Given the description of an element on the screen output the (x, y) to click on. 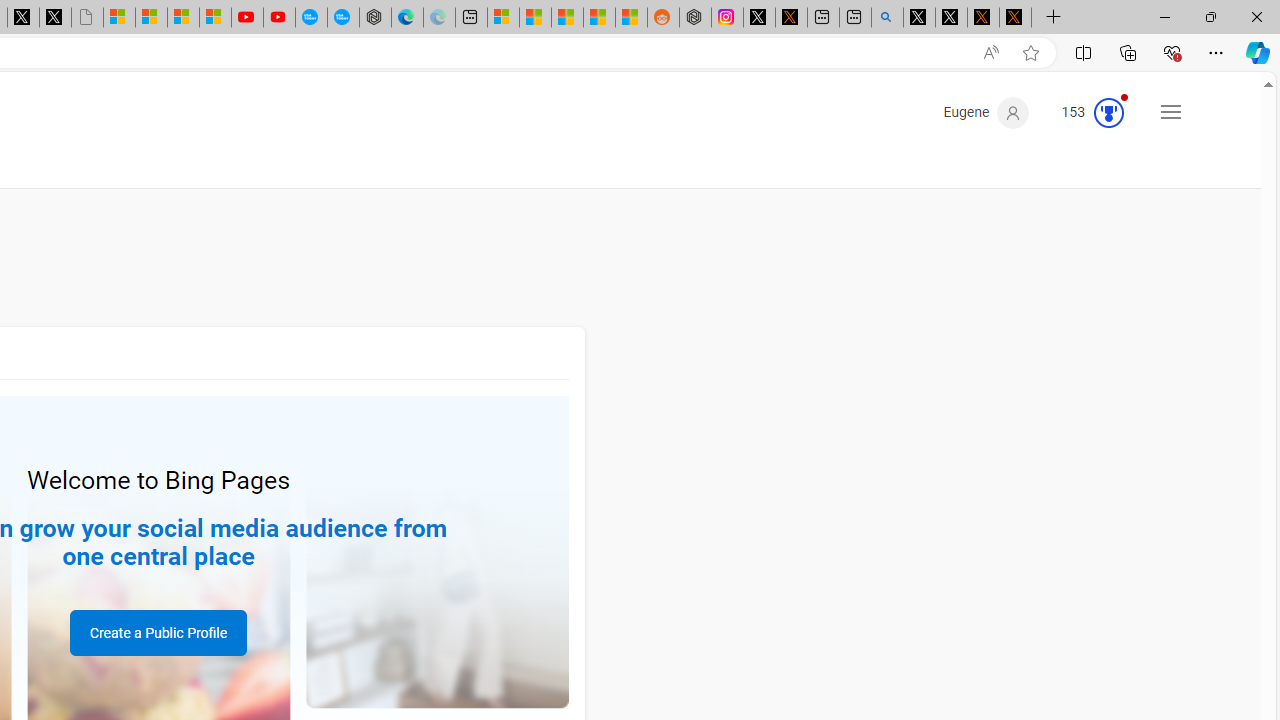
Microsoft account | Microsoft Account Privacy Settings (502, 17)
Microsoft Rewards 153 (1084, 112)
help.x.com | 524: A timeout occurred (791, 17)
github - Search (886, 17)
Create a Public Profile (158, 632)
The most popular Google 'how to' searches (343, 17)
